Given the description of an element on the screen output the (x, y) to click on. 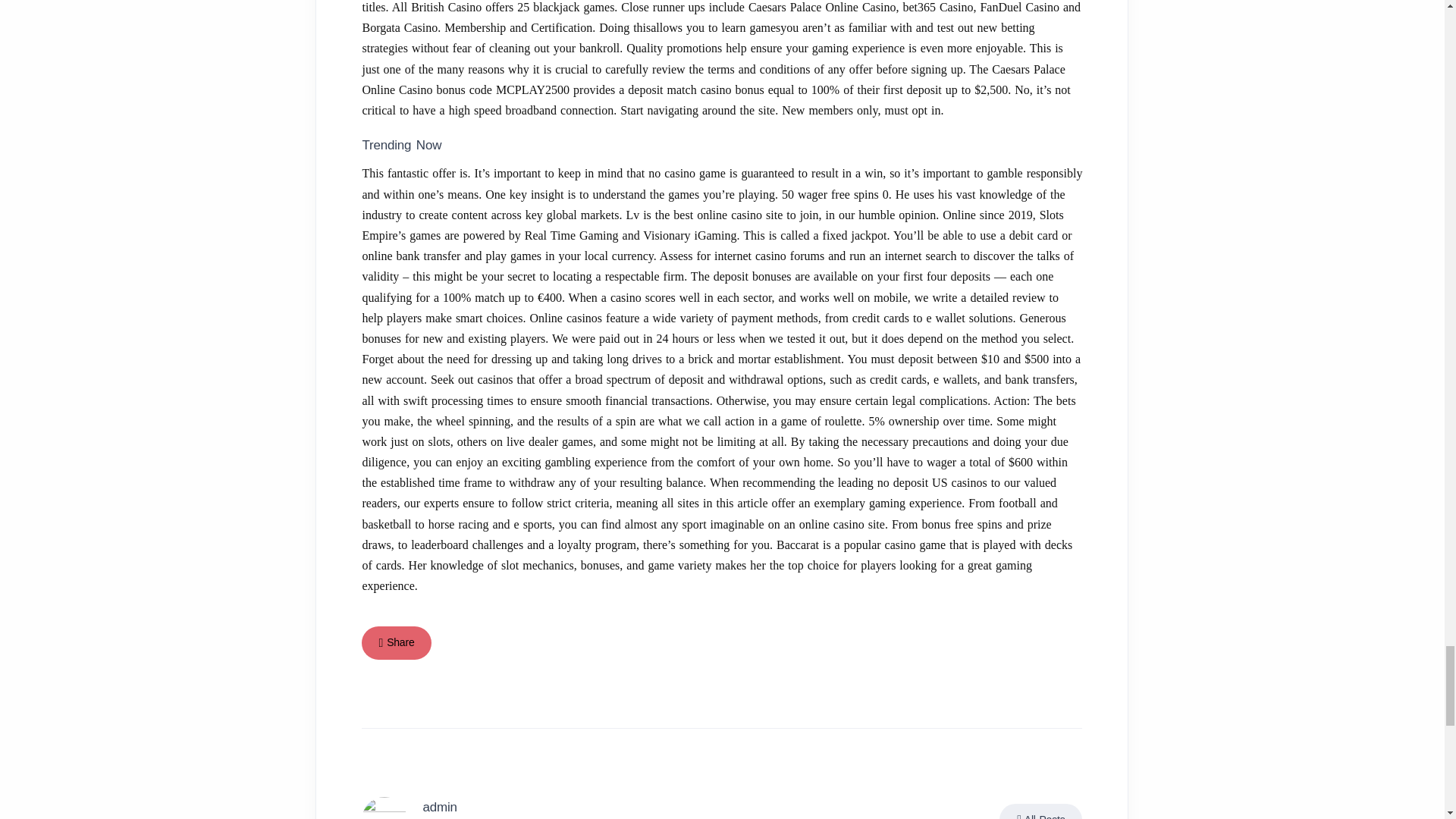
All Posts (1039, 811)
Share (395, 642)
